Given the description of an element on the screen output the (x, y) to click on. 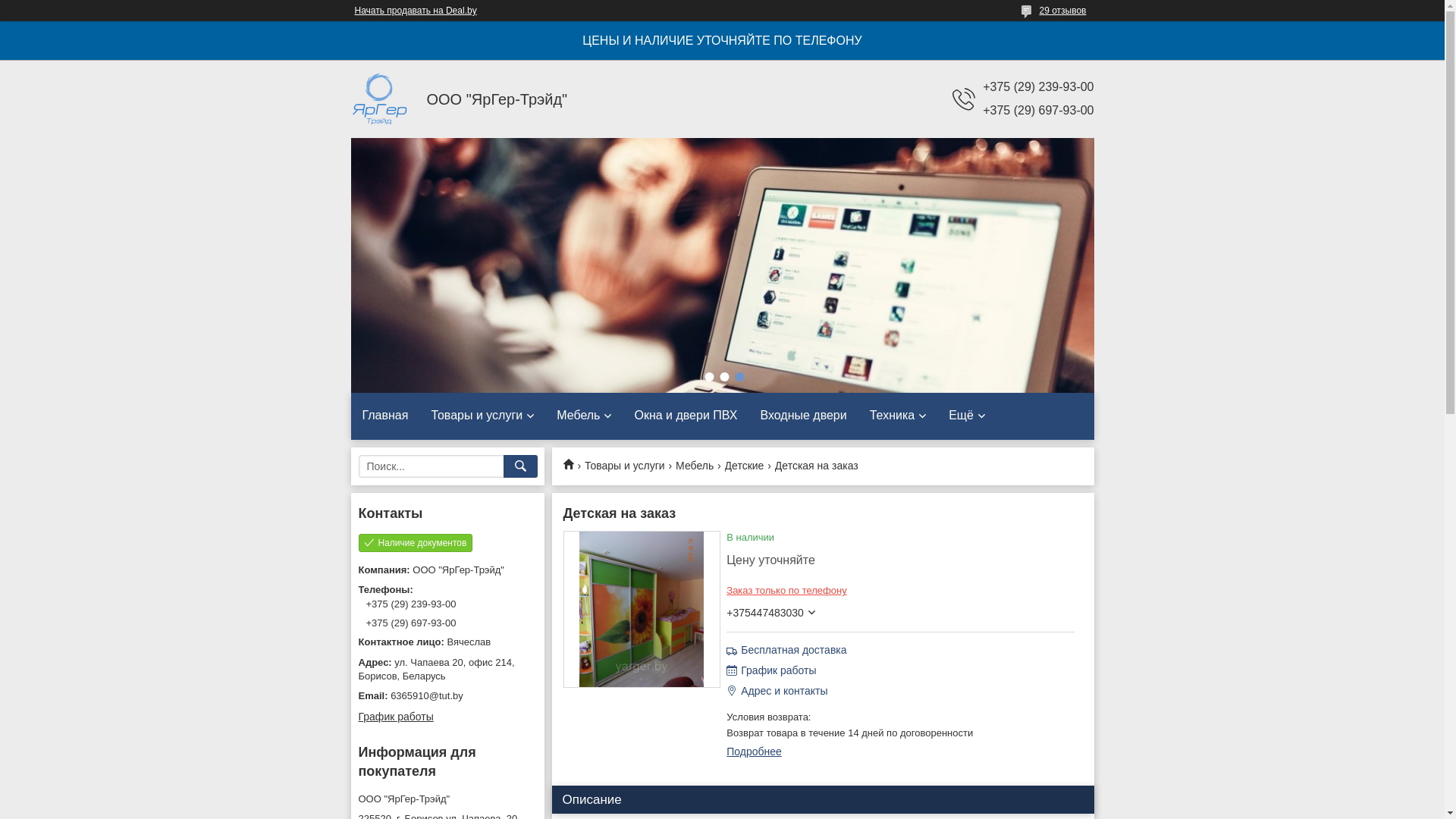
6365910@tut.by Element type: text (446, 695)
